Given the description of an element on the screen output the (x, y) to click on. 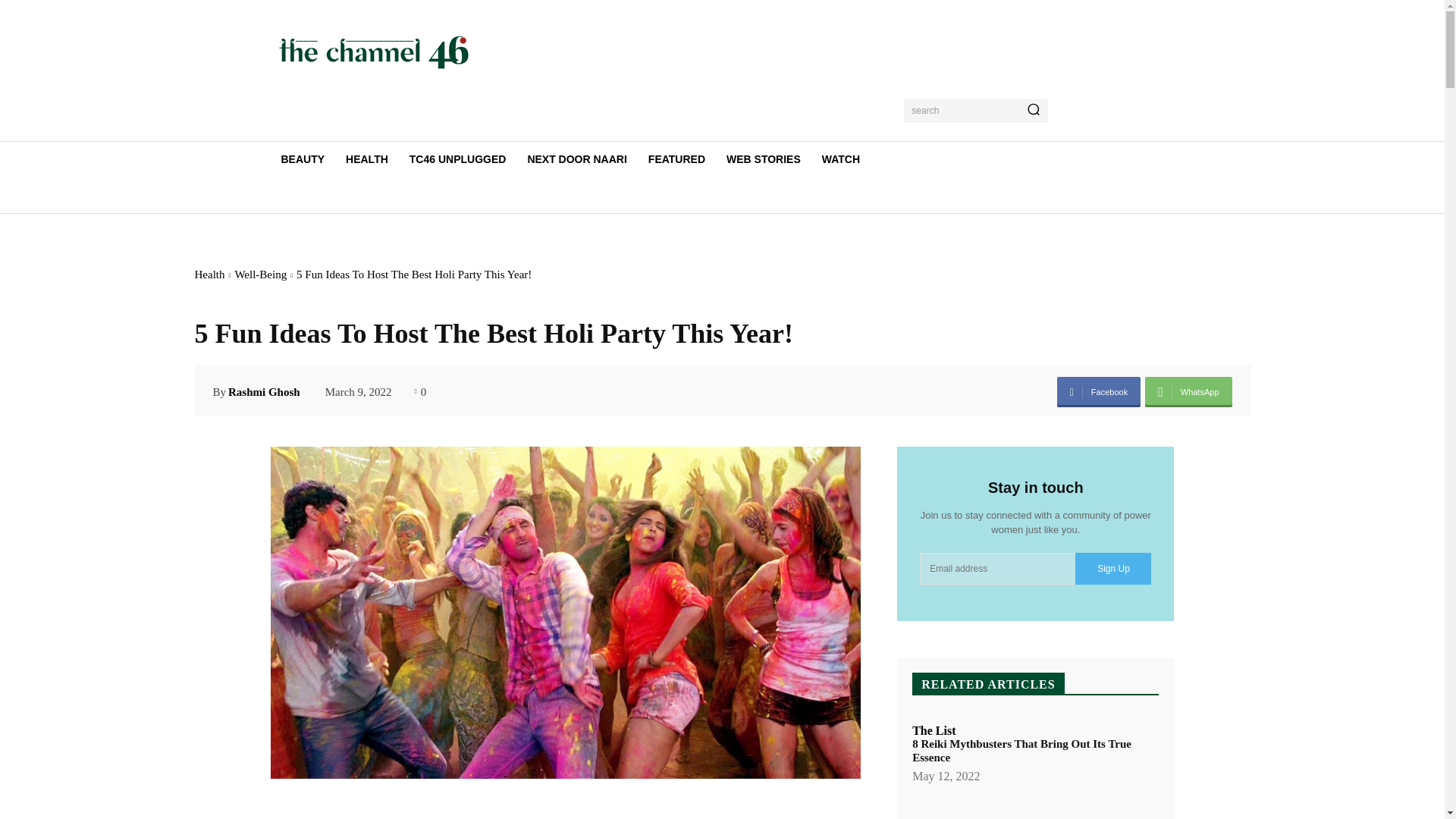
BEAUTY (301, 158)
